Given the description of an element on the screen output the (x, y) to click on. 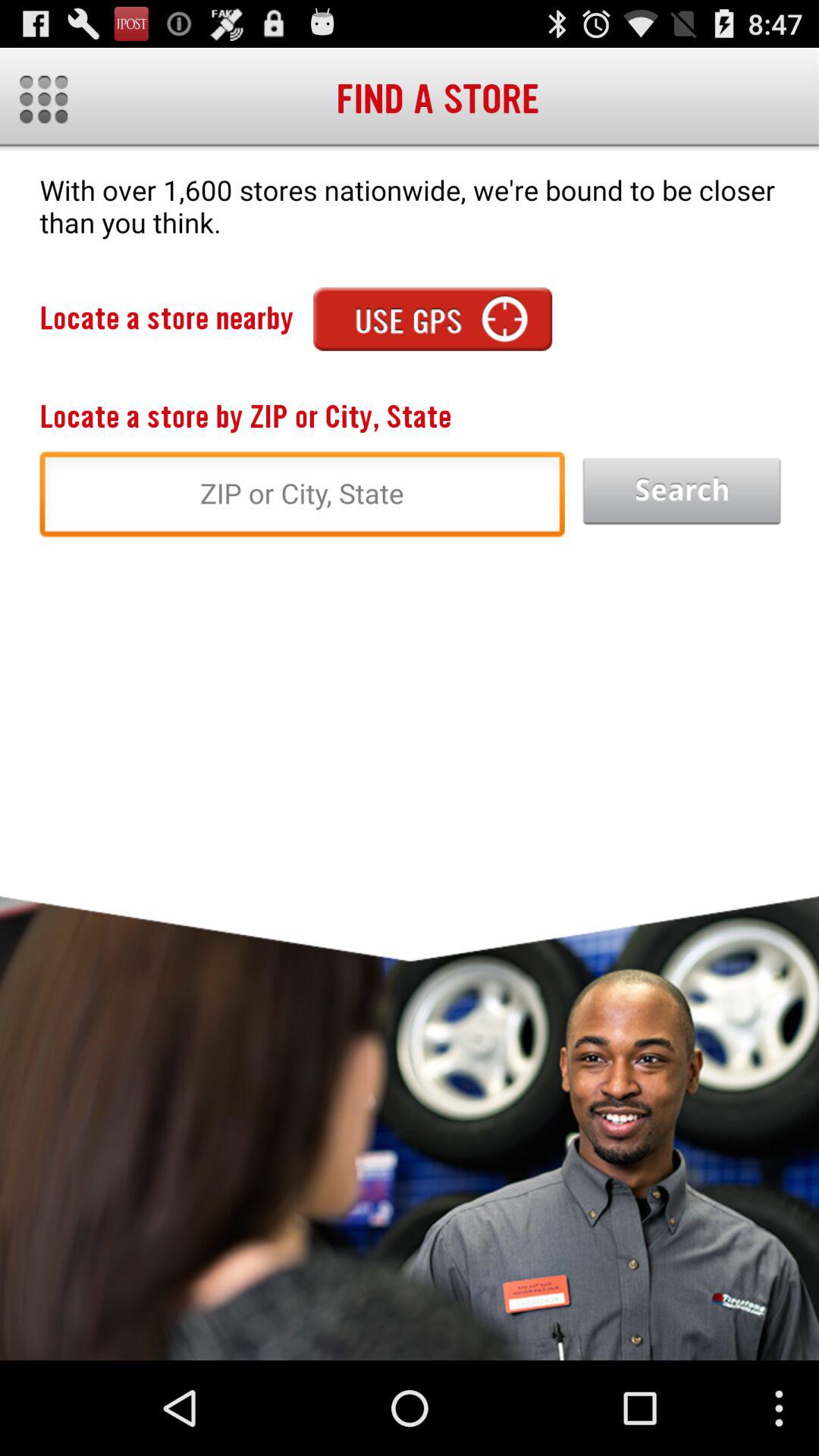
menu (43, 99)
